Given the description of an element on the screen output the (x, y) to click on. 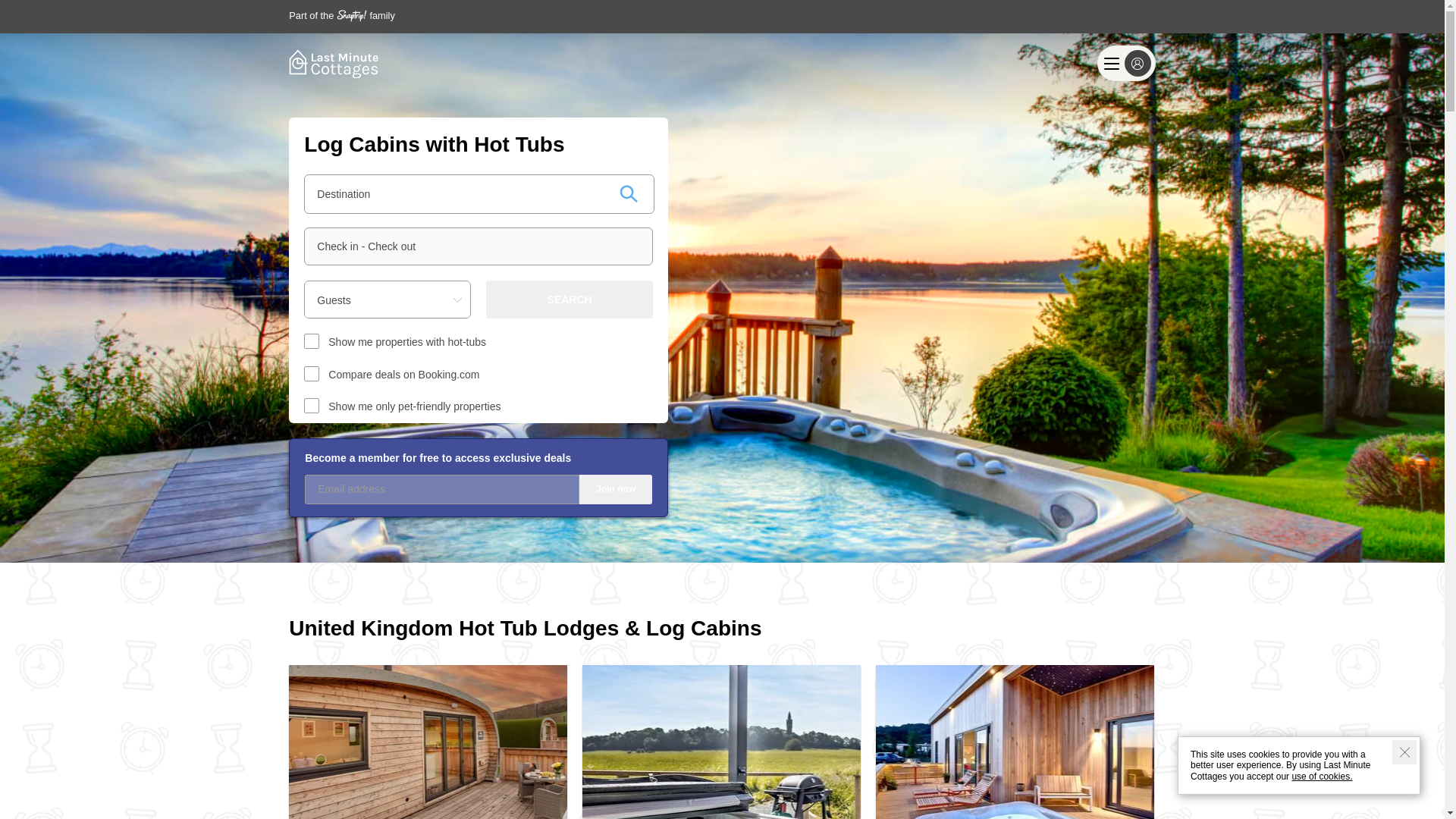
Part of the family (341, 15)
